Given the description of an element on the screen output the (x, y) to click on. 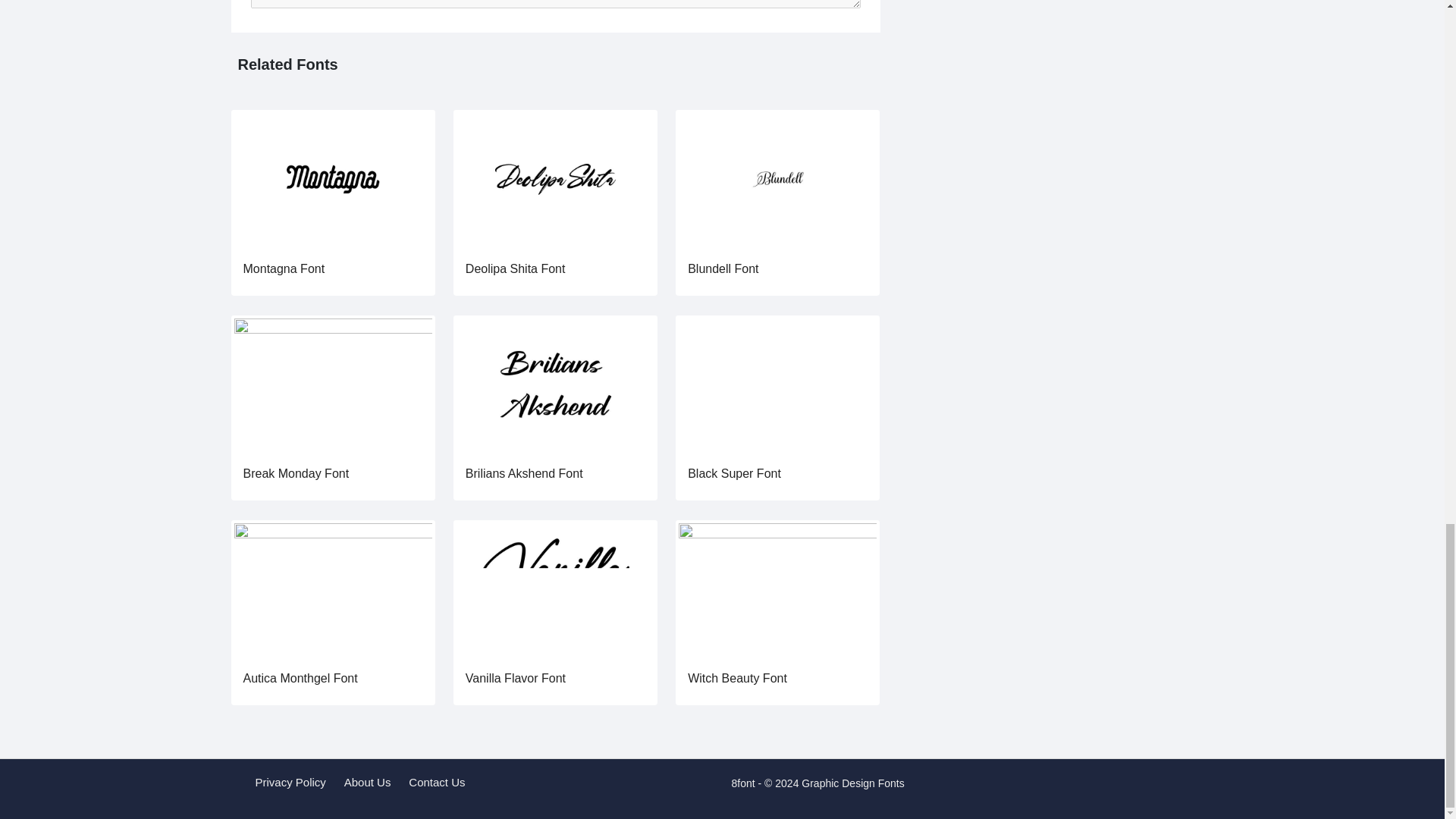
Break Monday Font (331, 384)
Break Monday Font (296, 472)
Vanilla Flavor Font (555, 589)
Brilians Akshend Font (555, 384)
Blundell Font (722, 268)
Black Super Font (777, 384)
Deolipa Shita Font (515, 268)
Montagna Font (283, 268)
Autica Monthgel Font (299, 677)
Vanilla Flavor Font (515, 677)
Witch Beauty Font (777, 589)
Autica Monthgel Font (331, 589)
Montagna Font (331, 178)
Deolipa Shita Font (555, 178)
Brilians Akshend Font (524, 472)
